Given the description of an element on the screen output the (x, y) to click on. 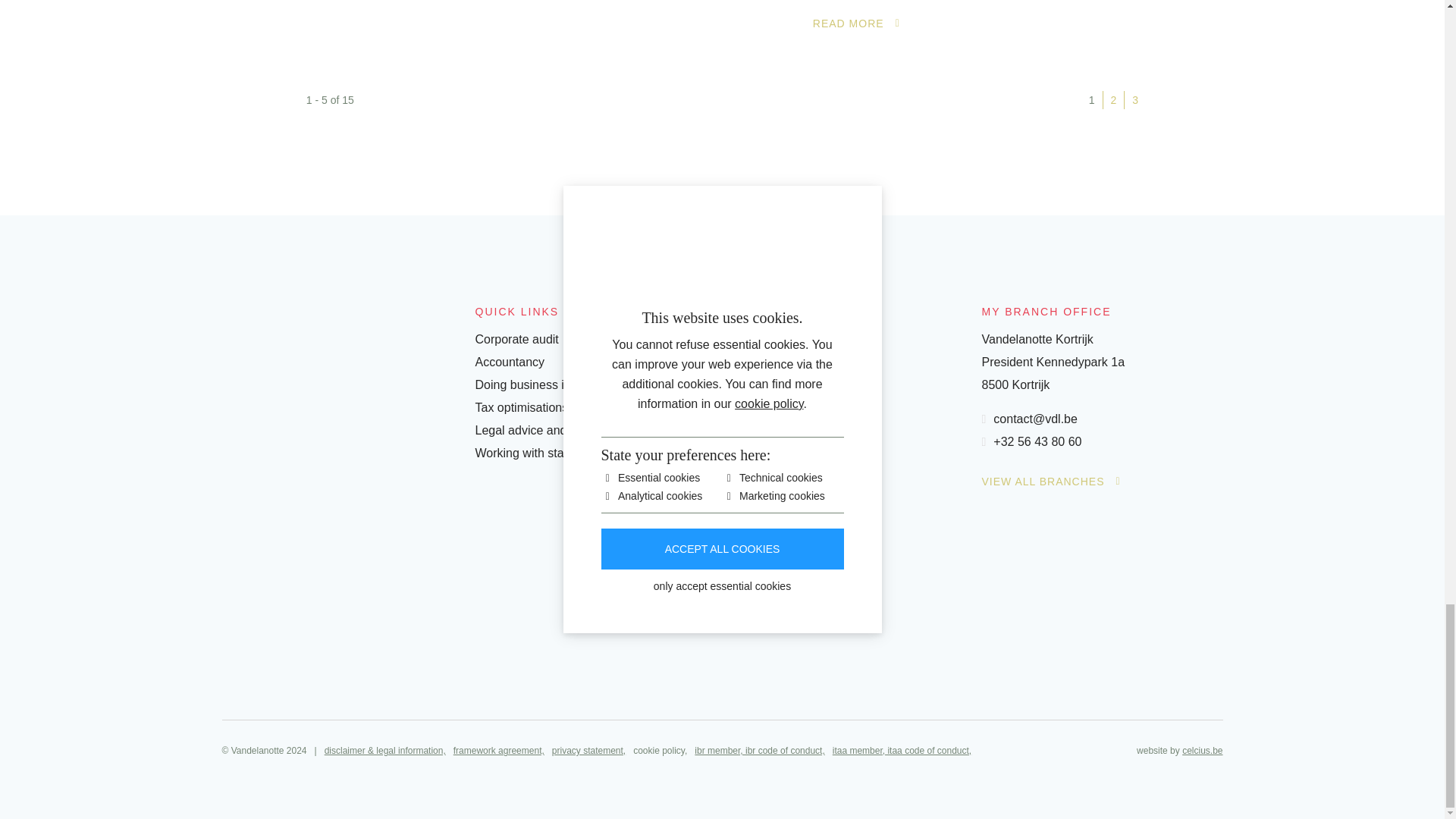
Legal advice and guidance (546, 430)
2 (1113, 99)
About us (848, 339)
Corporate audit (515, 338)
Our offer (848, 362)
Accountancy (509, 361)
Read more (855, 23)
READ MORE (855, 23)
Accountancy (509, 361)
2 (1113, 99)
